Given the description of an element on the screen output the (x, y) to click on. 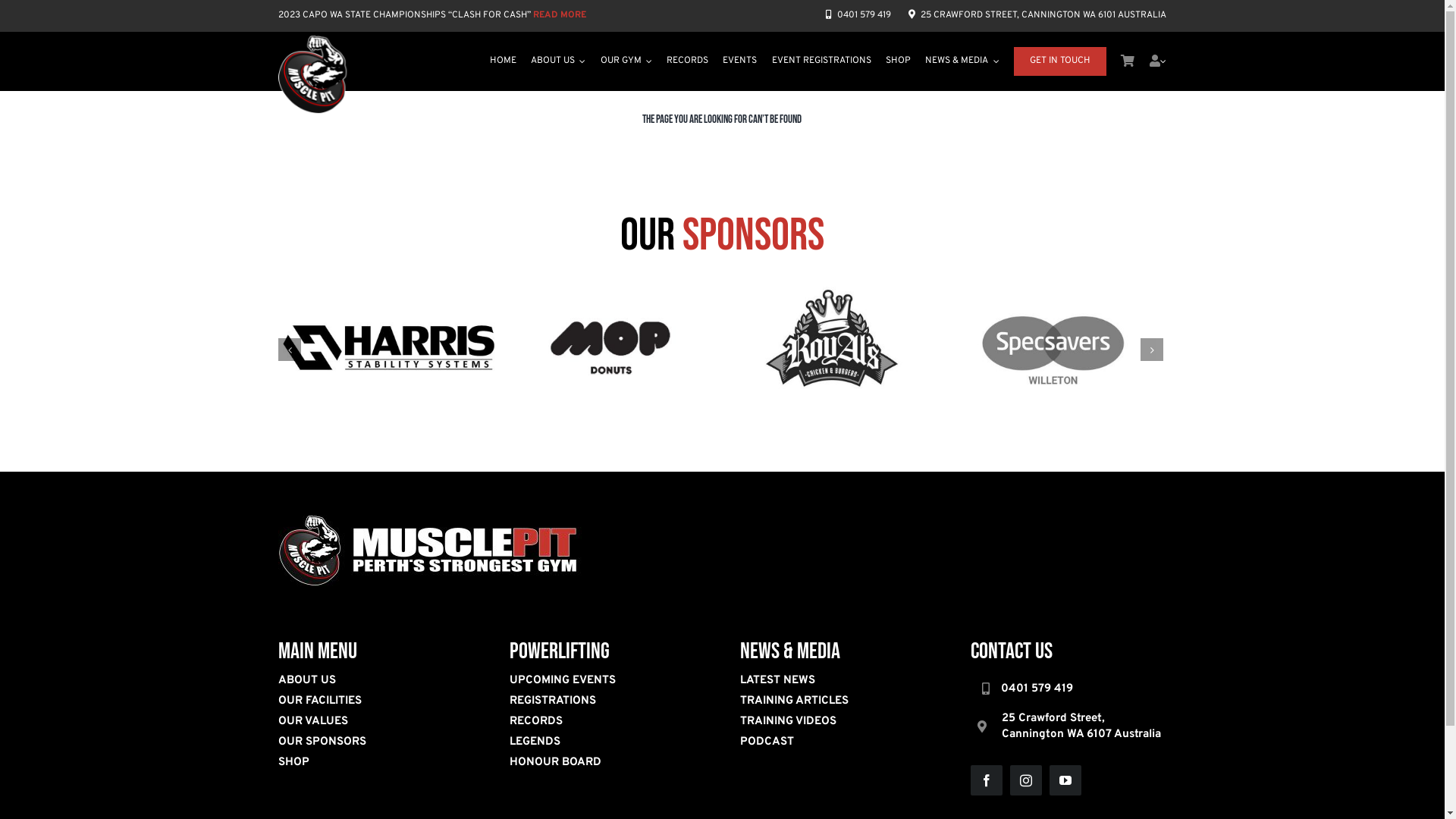
EVENT REGISTRATIONS Element type: text (821, 61)
25 CRAWFORD STREET, CANNINGTON WA 6101 AUSTRALIA Element type: text (1037, 15)
LATEST NEWS Element type: text (837, 680)
READ MORE Element type: text (559, 15)
RECORDS Element type: text (606, 721)
HONOUR BOARD Element type: text (606, 762)
musclepit-logo-2021 Element type: hover (429, 550)
LEGENDS Element type: text (606, 741)
OUR SPONSORS Element type: text (375, 741)
SHOP Element type: text (897, 61)
25 Crawford Street, Cannington WA 6107 Australia Element type: text (1067, 726)
SHOP Element type: text (375, 762)
UPCOMING EVENTS Element type: text (606, 680)
TRAINING ARTICLES Element type: text (837, 700)
ABOUT US Element type: text (557, 61)
NEWS & MEDIA Element type: text (961, 61)
Log In Element type: text (1112, 202)
0401 579 419 Element type: text (859, 15)
OUR GYM Element type: text (626, 61)
HOME Element type: text (502, 61)
REGISTRATIONS Element type: text (606, 700)
RECORDS Element type: text (687, 61)
TRAINING VIDEOS Element type: text (837, 721)
0401 579 419 Element type: text (1067, 688)
EVENTS Element type: text (739, 61)
OUR FACILITIES Element type: text (375, 700)
OUR VALUES Element type: text (375, 721)
GET IN TOUCH Element type: text (1059, 61)
PODCAST Element type: text (837, 741)
ABOUT US Element type: text (375, 680)
